Given the description of an element on the screen output the (x, y) to click on. 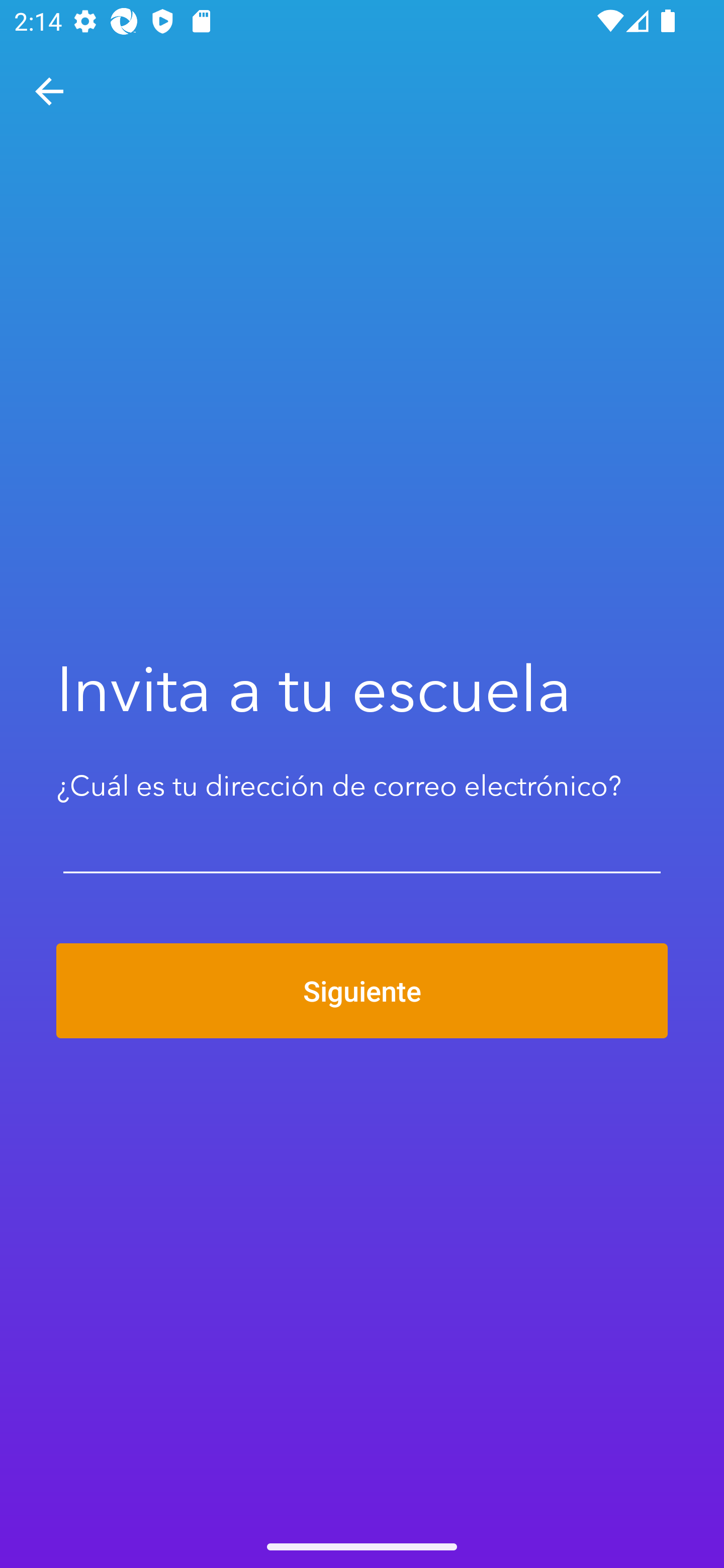
Navegar hacia arriba (49, 91)
Siguiente (361, 990)
